Given the description of an element on the screen output the (x, y) to click on. 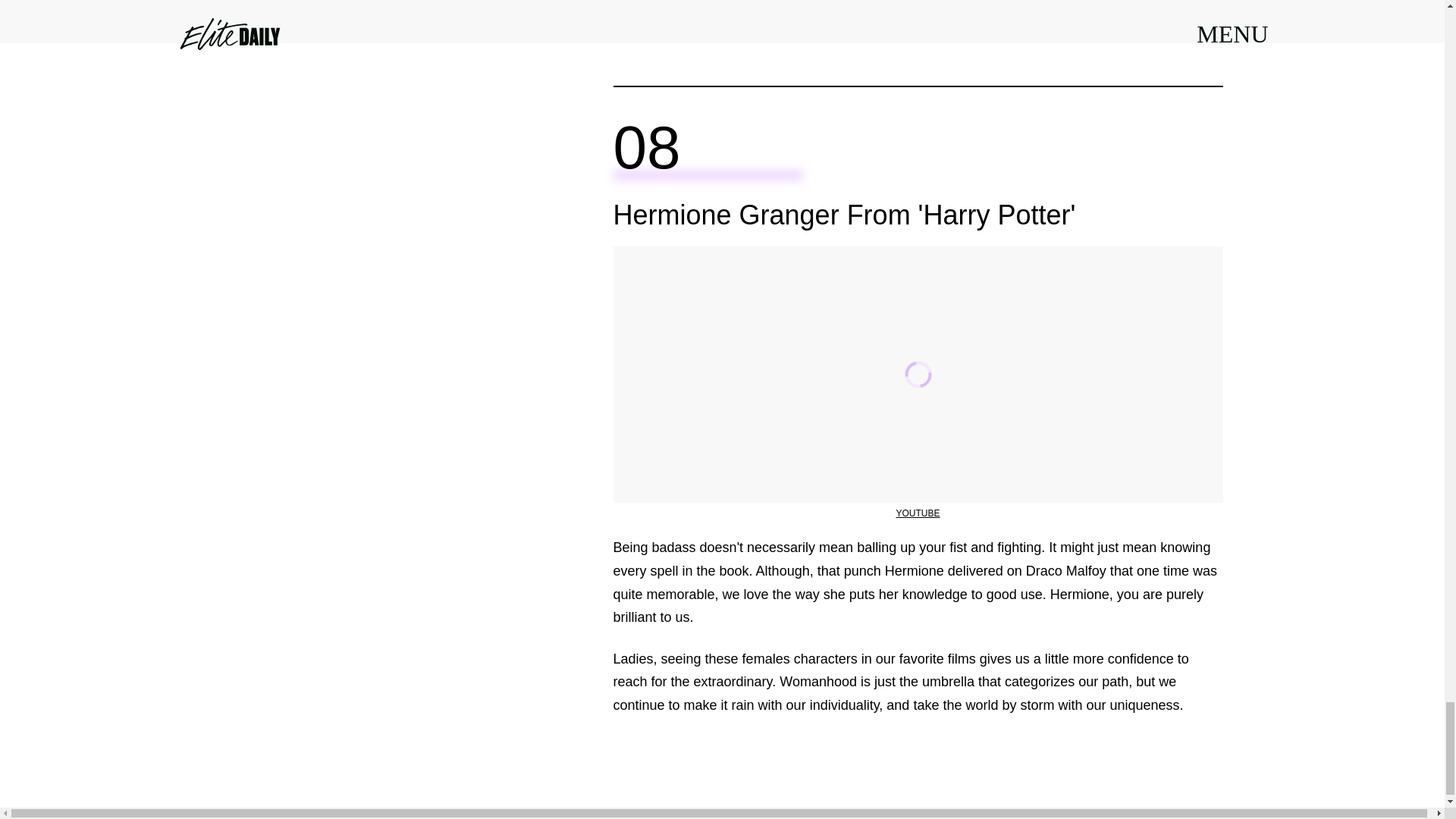
YOUTUBE (917, 512)
